Given the description of an element on the screen output the (x, y) to click on. 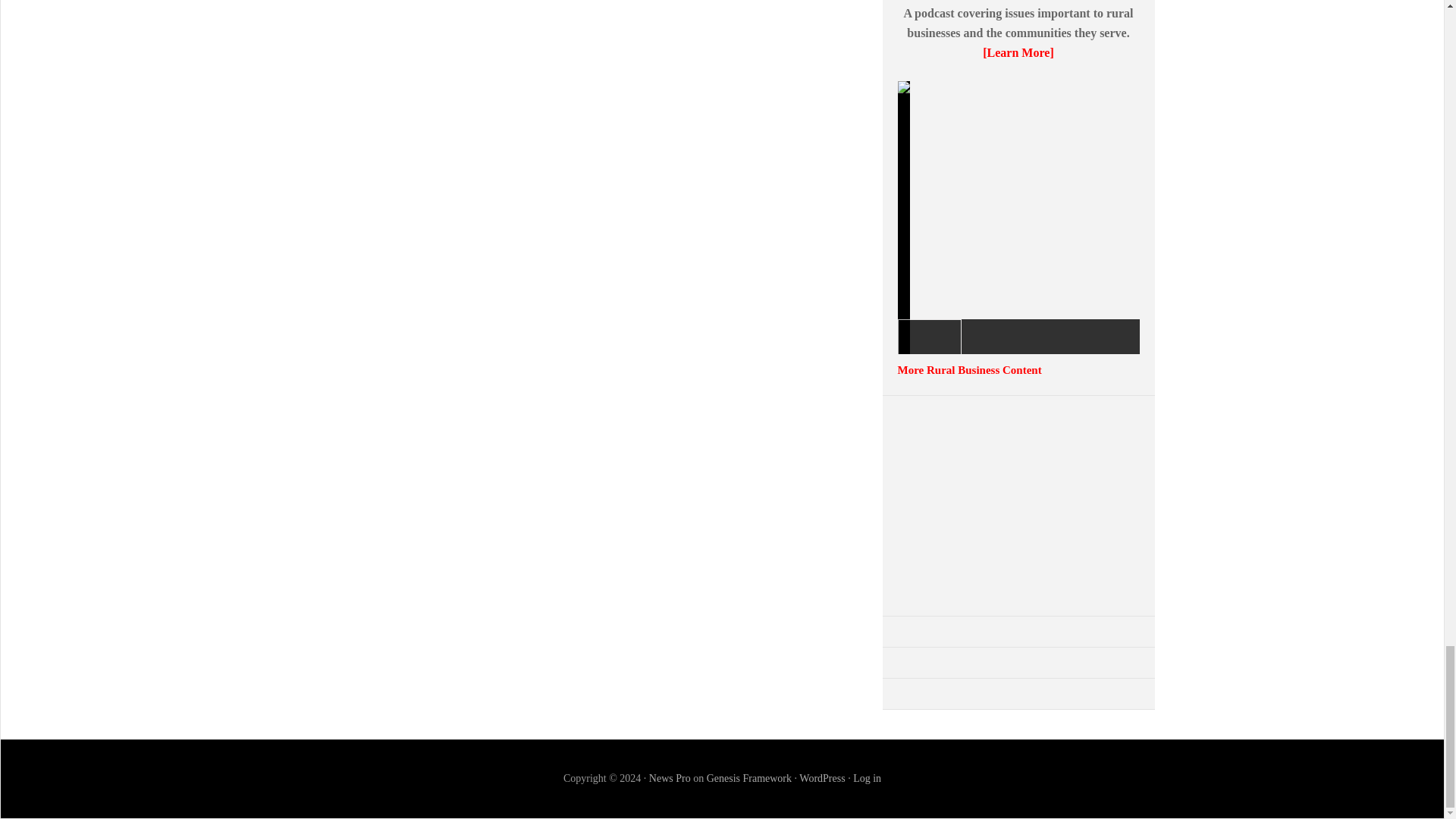
3rd party ad content (1018, 505)
